Given the description of an element on the screen output the (x, y) to click on. 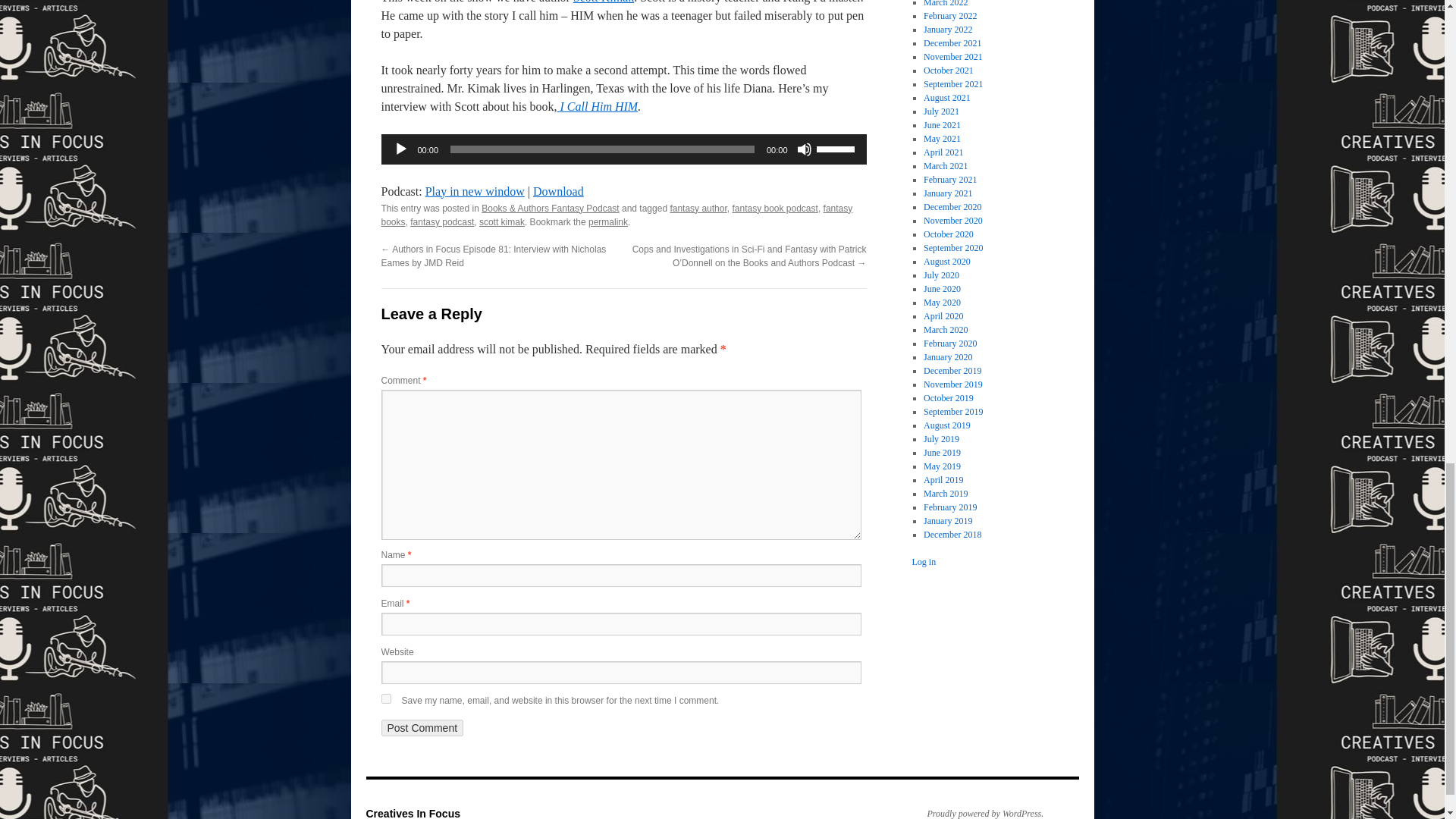
fantasy books (615, 215)
Download (557, 191)
Play in new window (474, 191)
Play in new window (474, 191)
fantasy author (697, 208)
Post Comment (421, 727)
yes (385, 698)
I Call Him HIM (596, 106)
fantasy book podcast (774, 208)
Download (557, 191)
Mute (803, 149)
Play (400, 149)
scott kimak (501, 222)
fantasy podcast (442, 222)
